Given the description of an element on the screen output the (x, y) to click on. 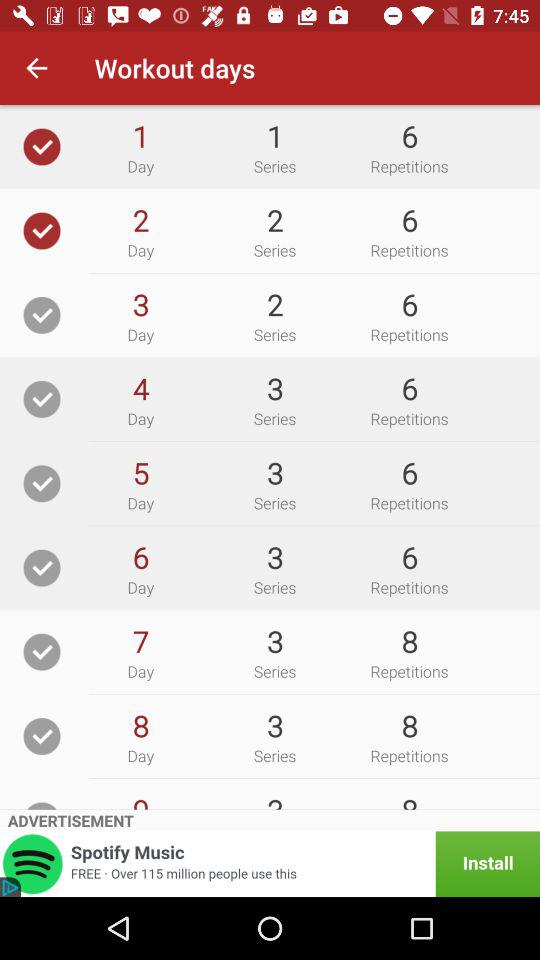
choose the icon next to the 3 (140, 388)
